Given the description of an element on the screen output the (x, y) to click on. 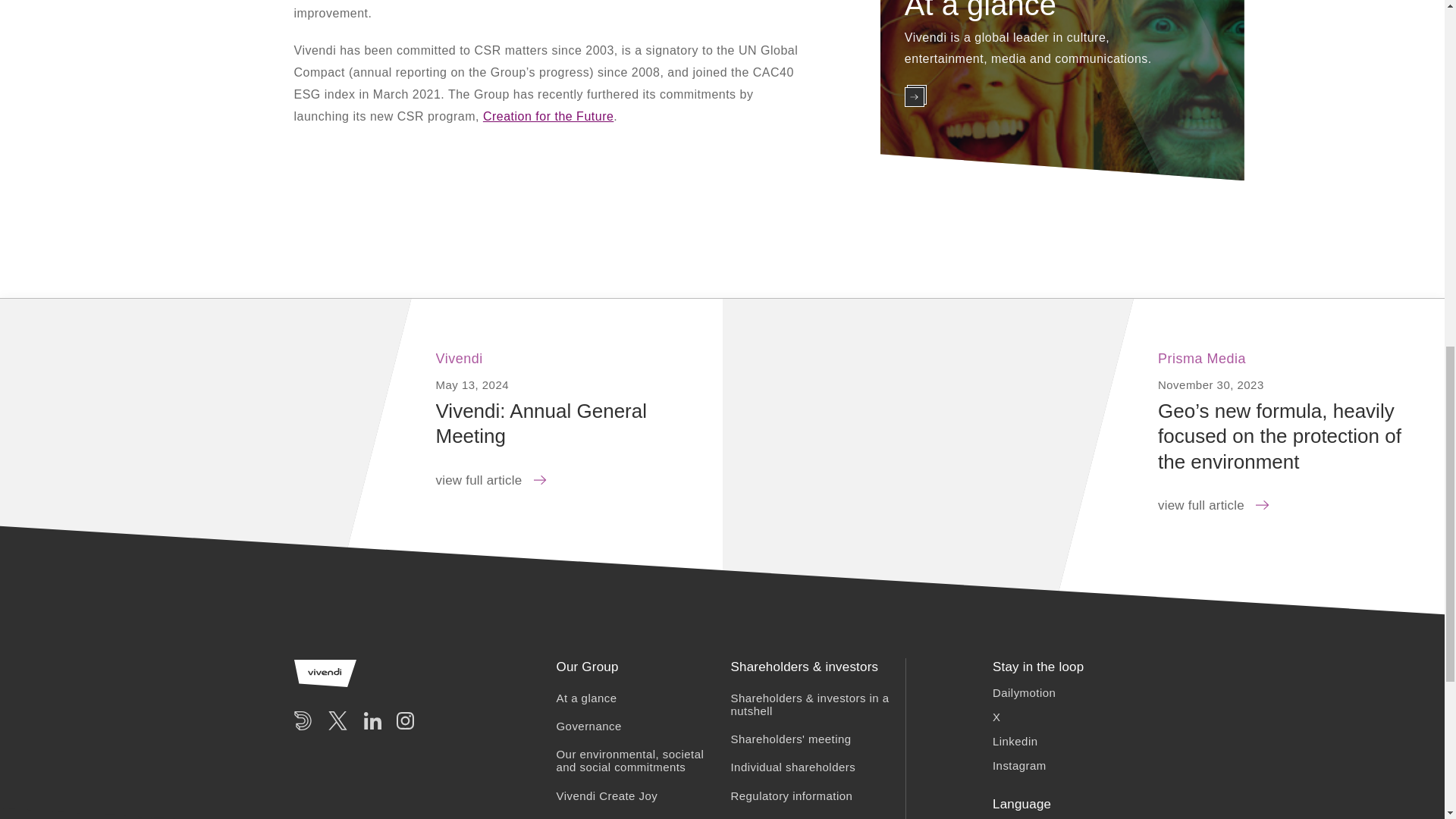
Linkedin (1014, 740)
Keep reading - Vivendi: Annual General Meeting (206, 458)
Dailymotion (1023, 692)
Instagram (1019, 765)
